Given the description of an element on the screen output the (x, y) to click on. 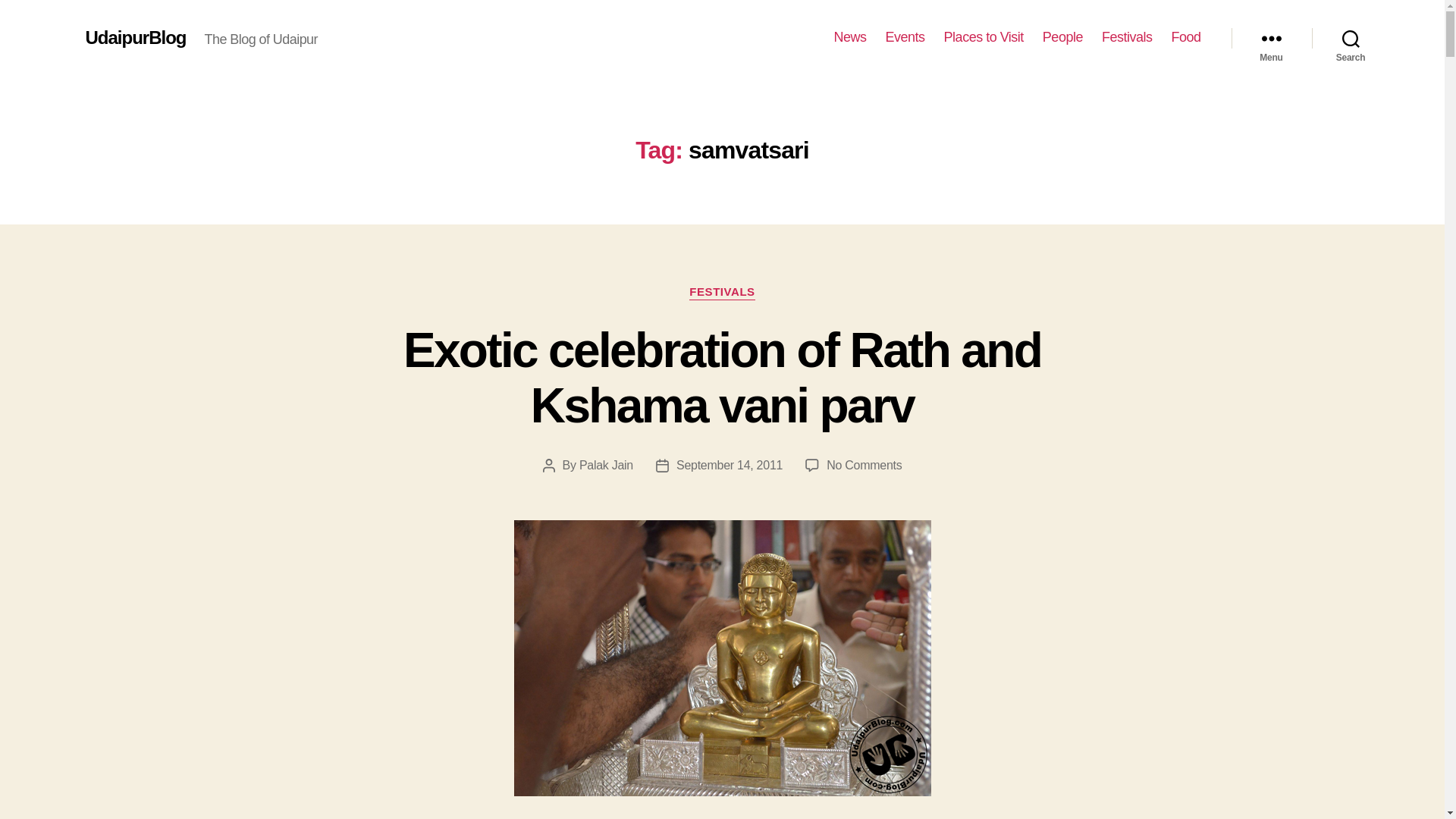
Menu (1271, 37)
Exotic celebration of Rath and Kshama vani parv (722, 377)
UdaipurBlog (135, 37)
Search (1350, 37)
Events (904, 37)
Food (1184, 37)
People (1062, 37)
Festivals (1127, 37)
News (850, 37)
